Given the description of an element on the screen output the (x, y) to click on. 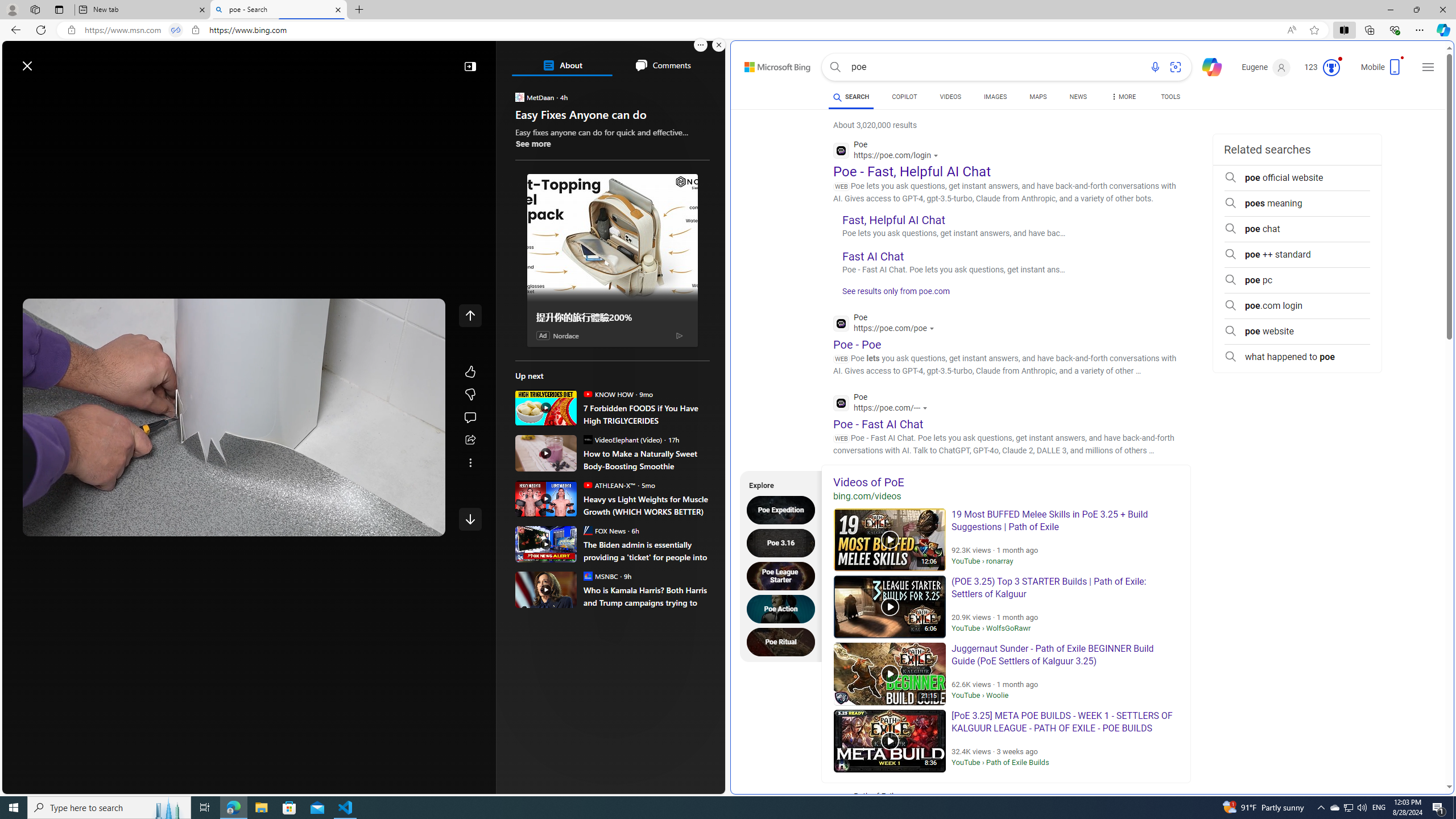
Open navigation menu (16, 92)
Progress Bar (234, 508)
NEWS (1078, 96)
Quality Settings (360, 523)
MSNBC MSNBC (600, 575)
poe website (1297, 331)
TOOLS (1171, 96)
Chat (1207, 65)
